Given the description of an element on the screen output the (x, y) to click on. 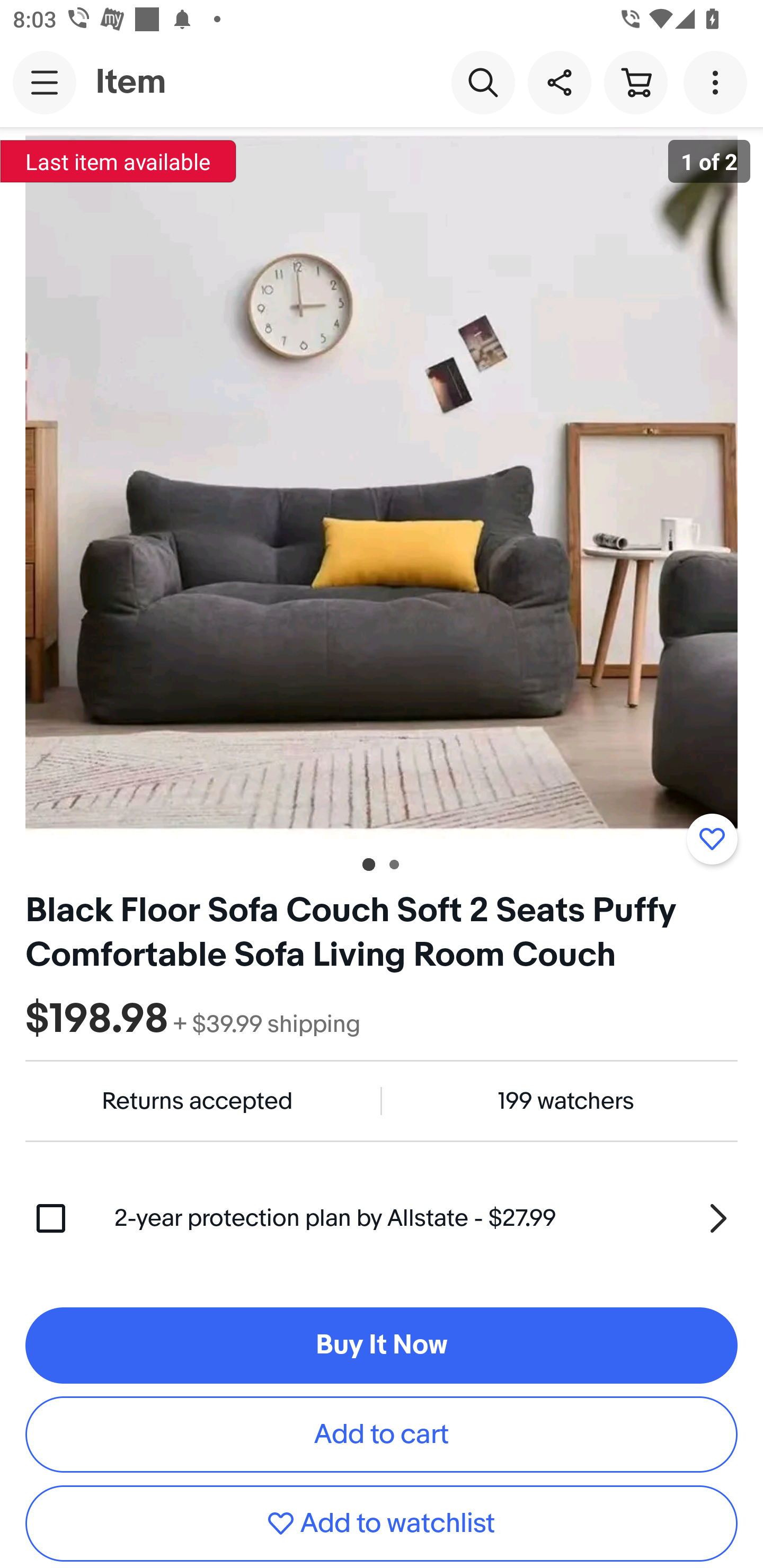
Main navigation, open (44, 82)
Search (482, 81)
Share this item (559, 81)
Cart button shopping cart (635, 81)
More options (718, 81)
Item image 1 of 2 (381, 482)
Last item available (118, 161)
Add to watchlist (711, 838)
2-year protection plan by Allstate - $27.99 (425, 1218)
Buy It Now (381, 1344)
Add to cart (381, 1434)
Add to watchlist (381, 1522)
